Given the description of an element on the screen output the (x, y) to click on. 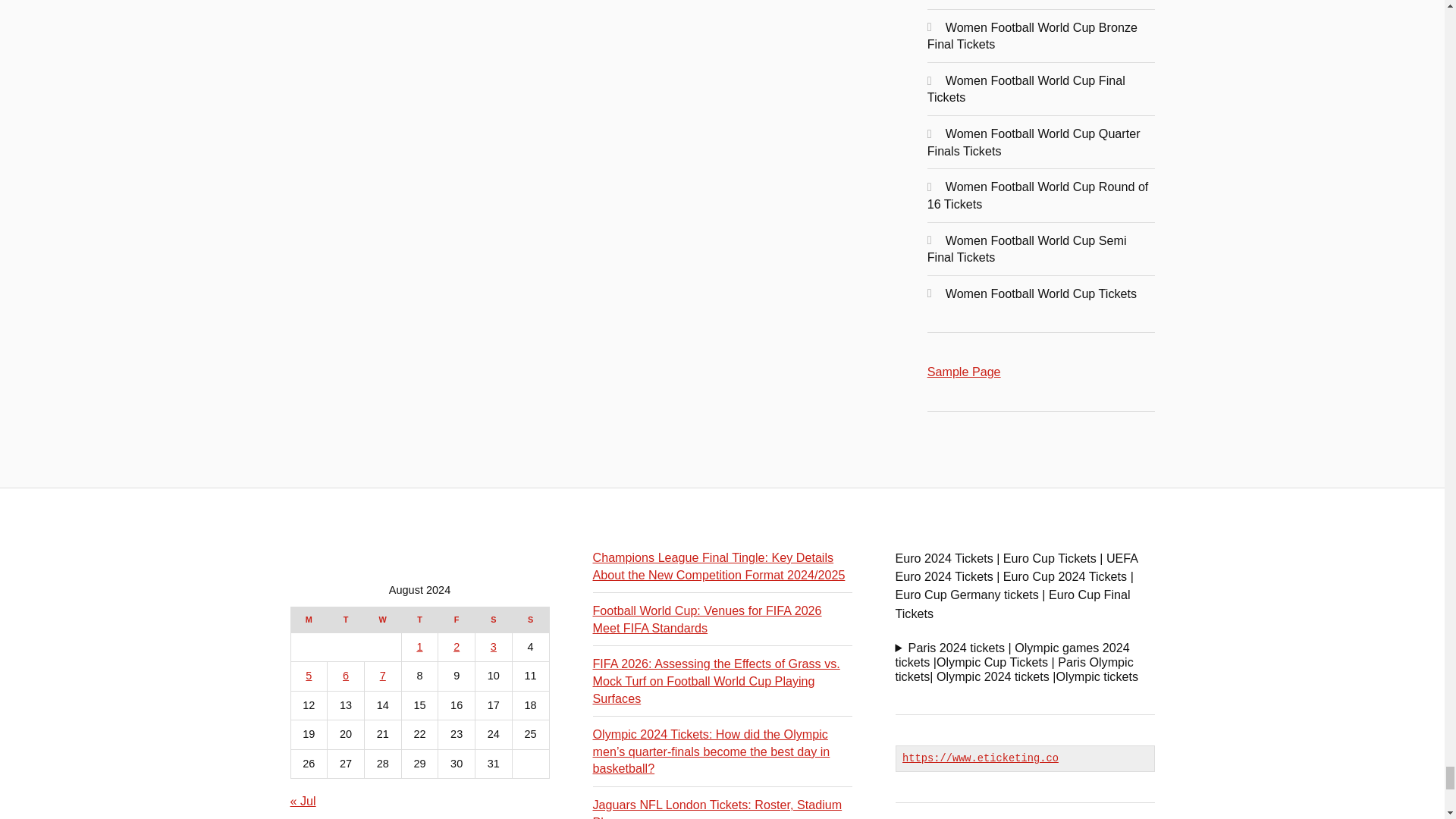
Wednesday (382, 619)
Tuesday (346, 619)
Thursday (419, 619)
Monday (308, 619)
Friday (457, 619)
Saturday (494, 619)
